Given the description of an element on the screen output the (x, y) to click on. 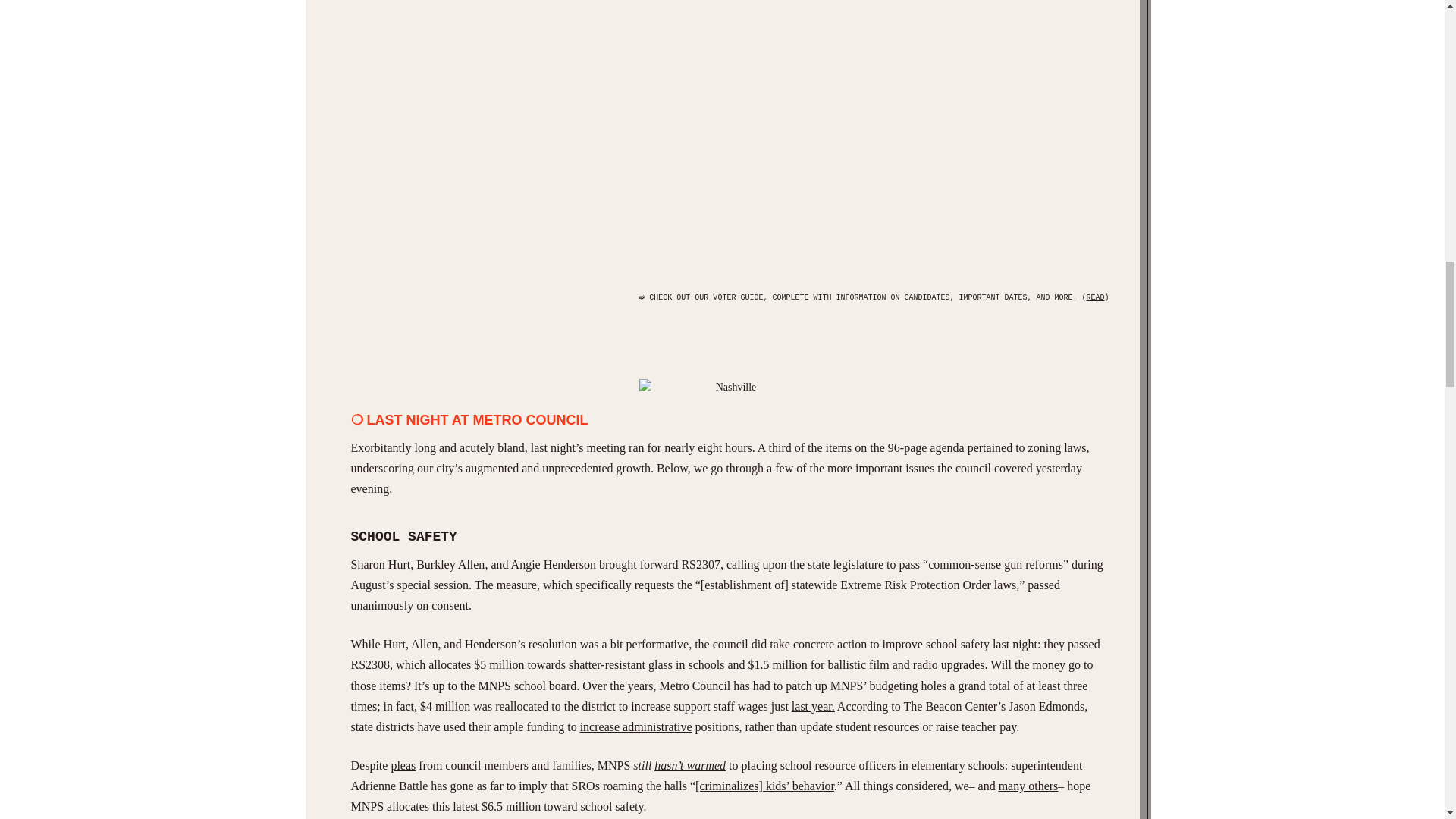
Angie Henderson (553, 563)
RS2307 (700, 563)
Burkley Allen (450, 563)
nearly eight hours (707, 447)
READ (1094, 297)
Sharon Hurt (380, 563)
